Given the description of an element on the screen output the (x, y) to click on. 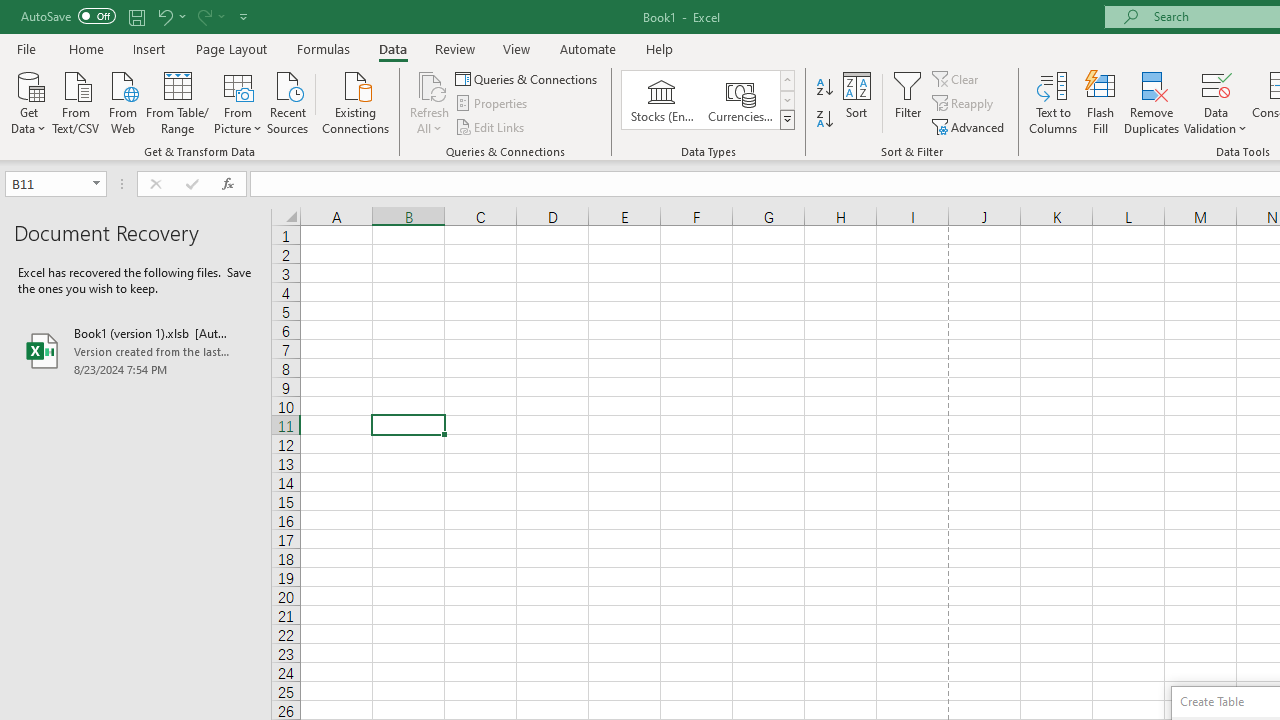
Help (660, 48)
Text to Columns... (1053, 102)
Customize Quick Access Toolbar (244, 15)
Name Box (46, 183)
Sort A to Z (824, 87)
Data Validation... (1215, 84)
Page Layout (230, 48)
Formulas (323, 48)
Open (96, 183)
Sort Z to A (824, 119)
Sort... (856, 102)
Recent Sources (287, 101)
